Given the description of an element on the screen output the (x, y) to click on. 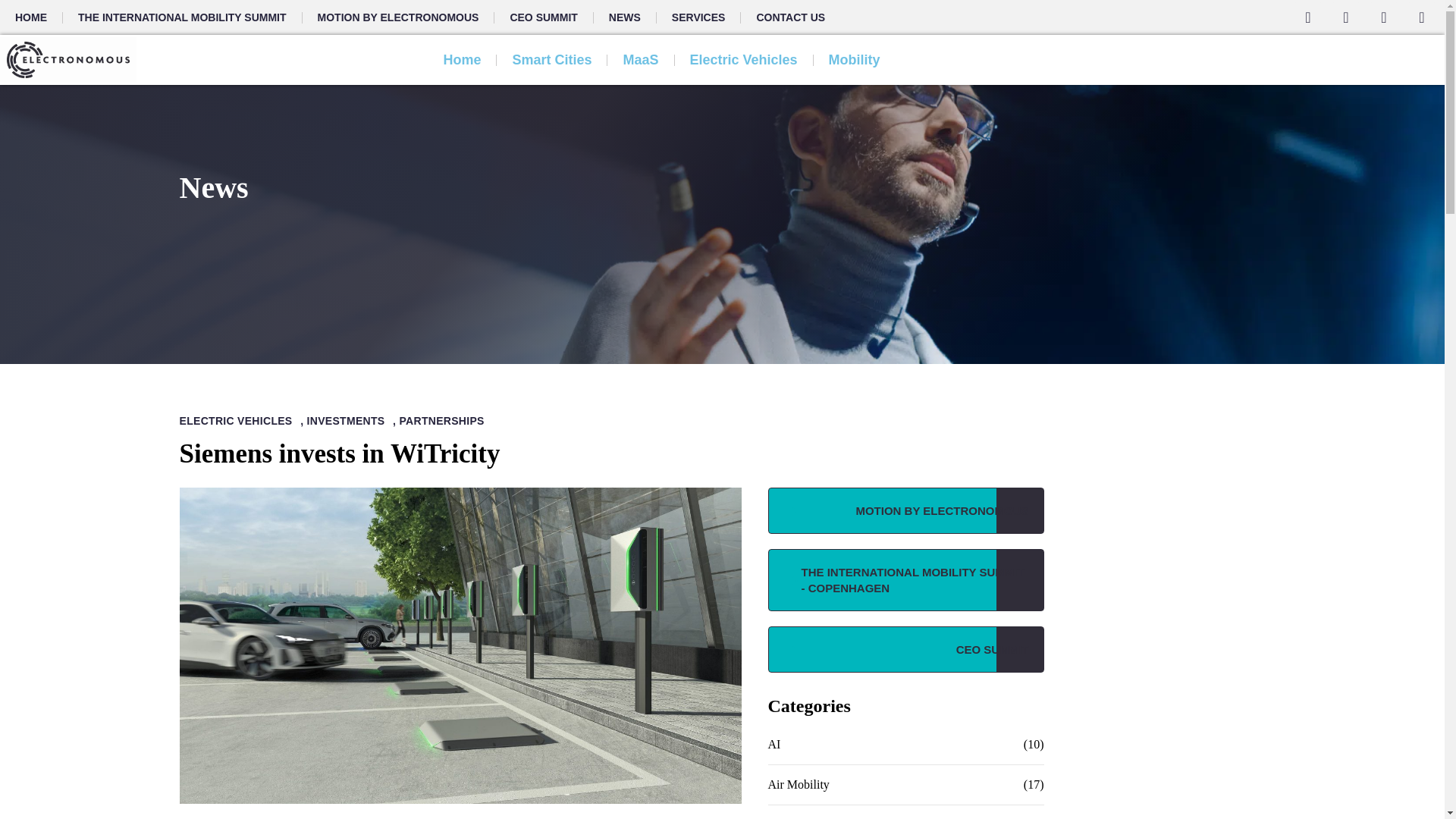
CONTACT US (790, 17)
Mobility (854, 59)
PARTNERSHIPS (445, 420)
MaaS (639, 59)
NEWS (625, 17)
ELECTRIC VEHICLES (239, 420)
Electric Vehicles (743, 59)
Home (462, 59)
HOME (31, 17)
THE INTERNATIONAL MOBILITY SUMMIT (181, 17)
